Given the description of an element on the screen output the (x, y) to click on. 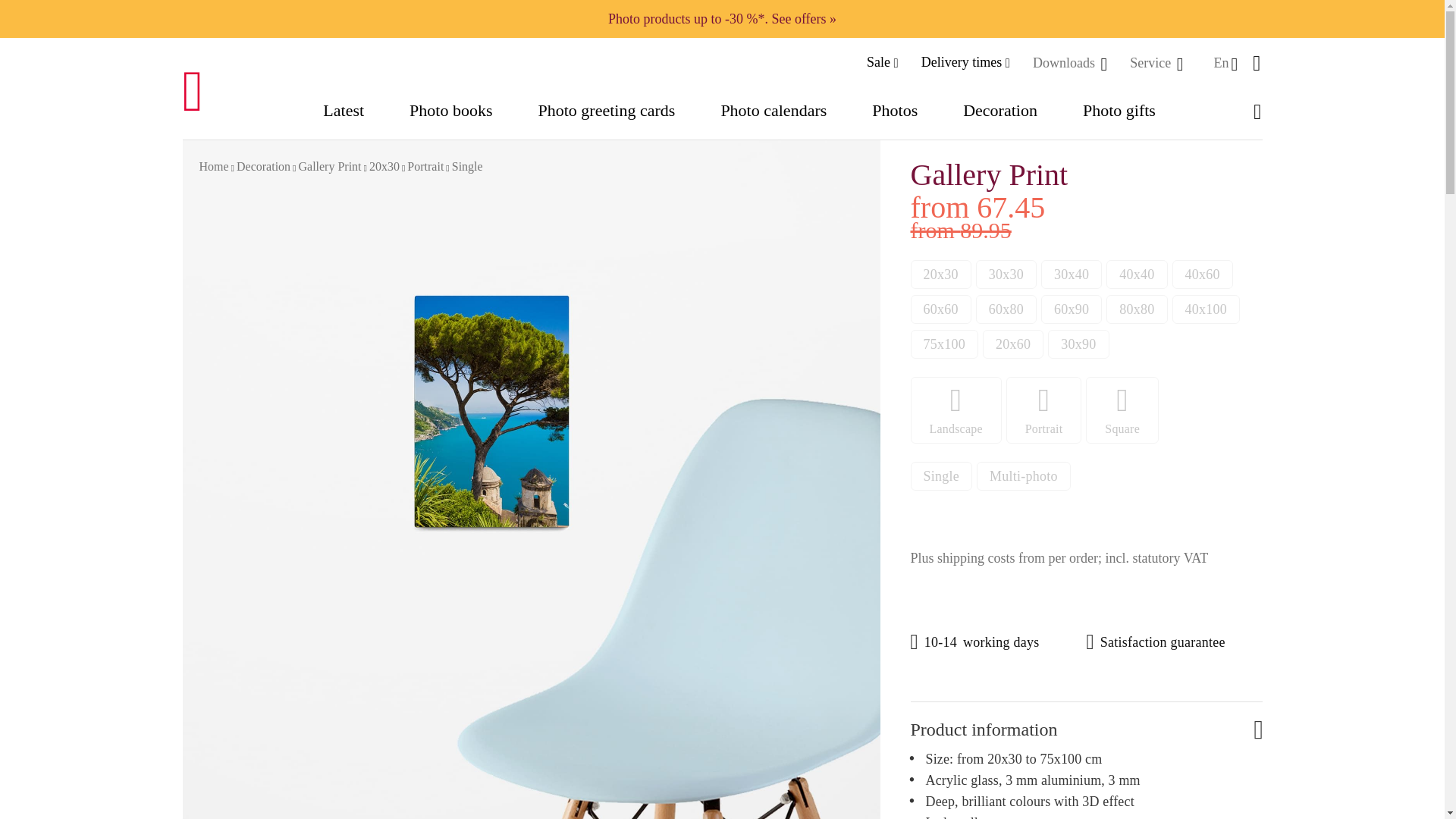
Delivery times (965, 61)
Downloads (1065, 62)
Sale (882, 61)
Sale (882, 61)
Photo books (450, 115)
Delivery times (965, 61)
